Given the description of an element on the screen output the (x, y) to click on. 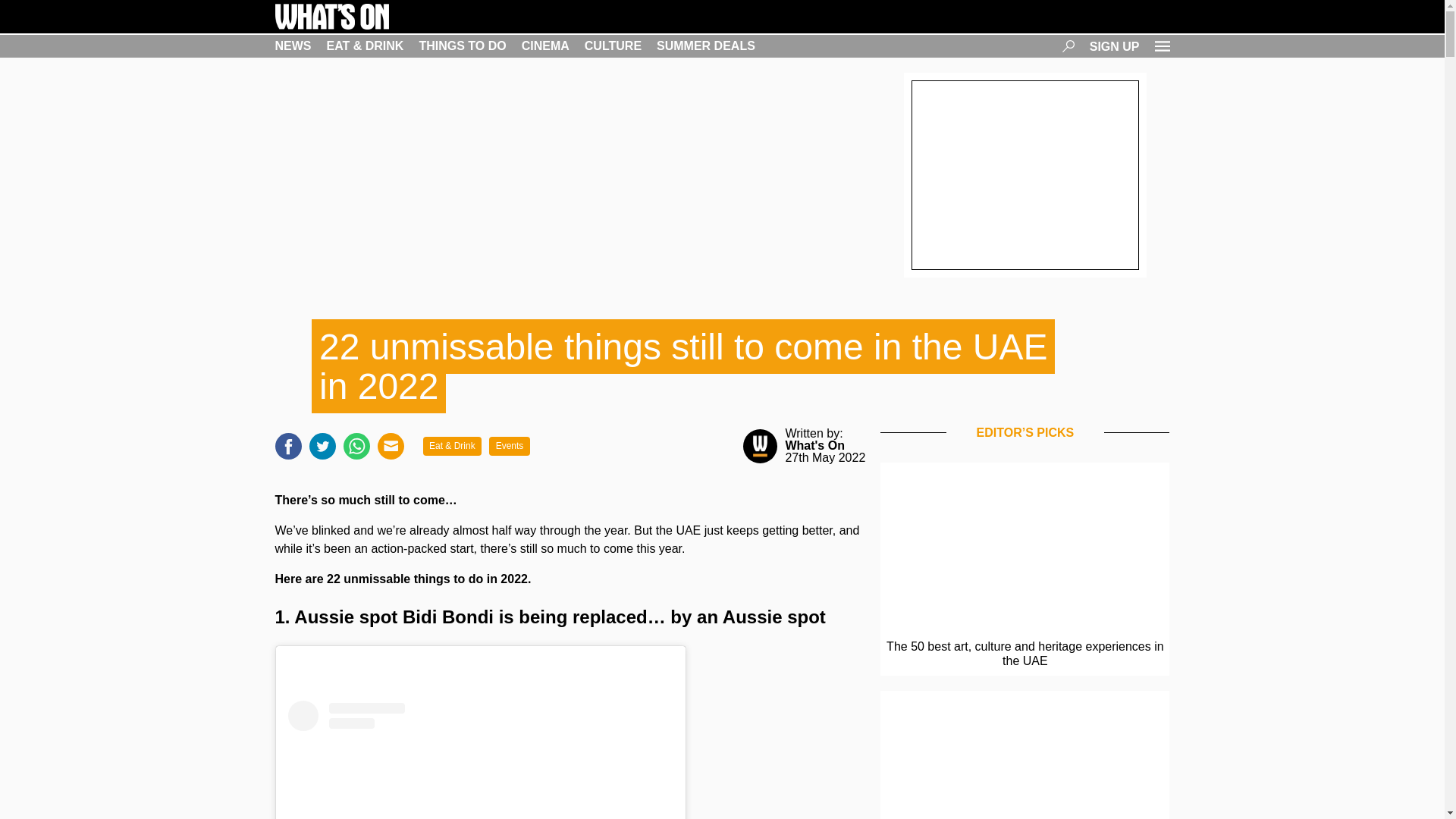
CINEMA (545, 45)
SIGN UP (1114, 45)
CULTURE (613, 45)
NEWS (293, 45)
SUMMER DEALS (705, 45)
THINGS TO DO (462, 45)
